Given the description of an element on the screen output the (x, y) to click on. 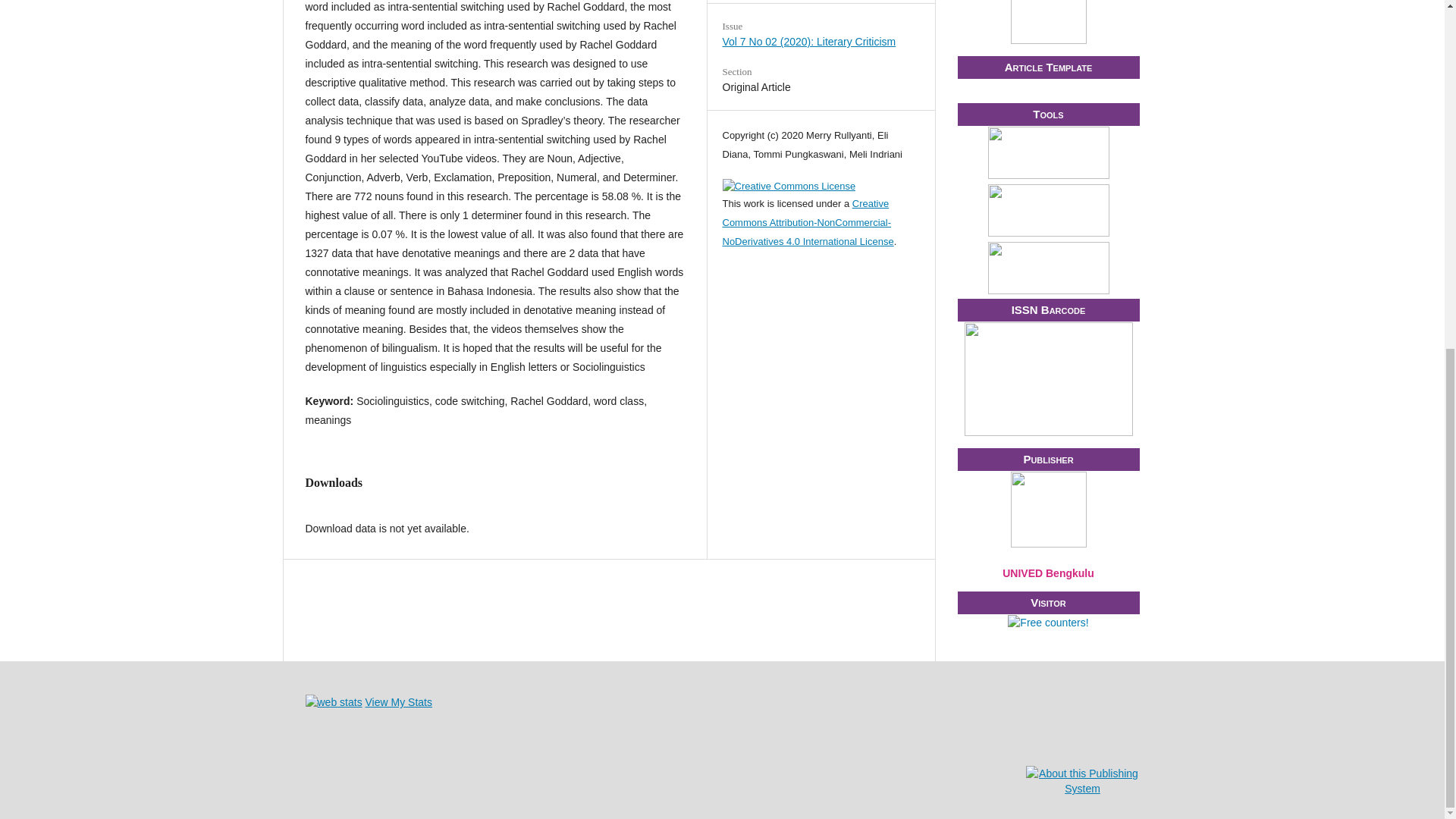
web stats (332, 702)
